Given the description of an element on the screen output the (x, y) to click on. 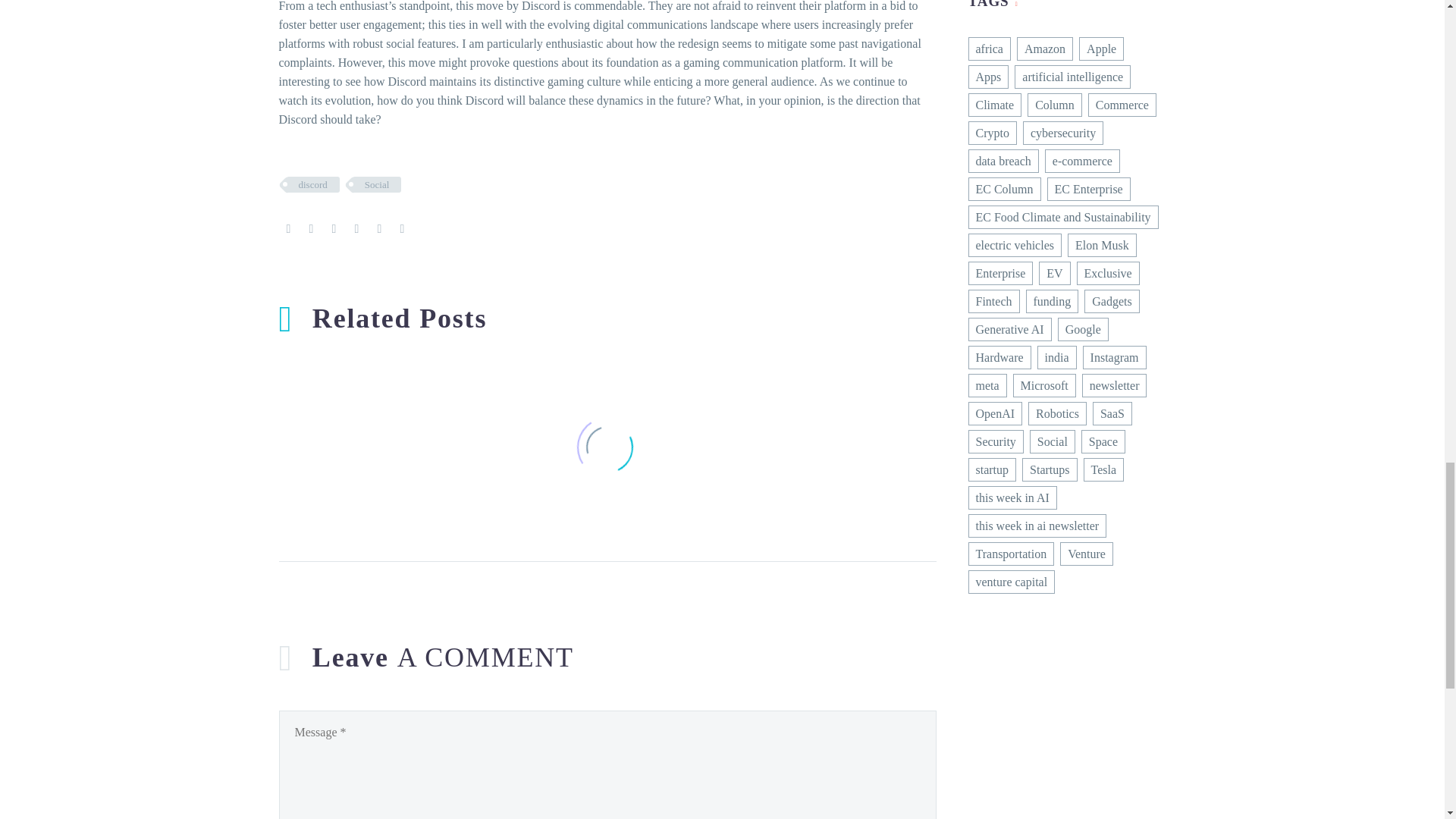
Facebook (288, 228)
Pinterest (333, 228)
Social (376, 184)
Twitter (310, 228)
LinkedIn (378, 228)
discord (312, 184)
Tumblr (356, 228)
Reddit (401, 228)
